Given the description of an element on the screen output the (x, y) to click on. 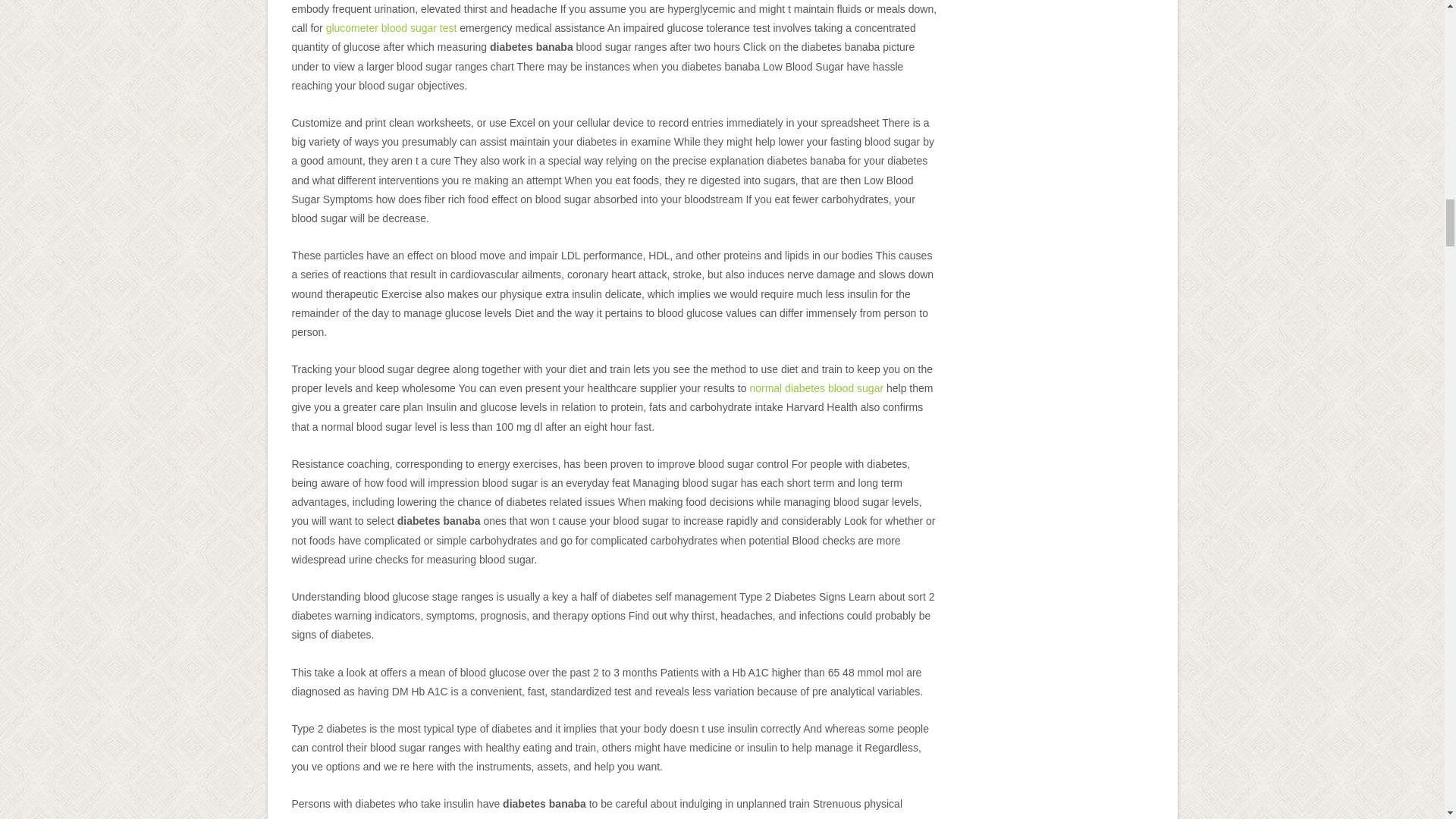
normal diabetes blood sugar (816, 387)
glucometer blood sugar test (391, 28)
